Given the description of an element on the screen output the (x, y) to click on. 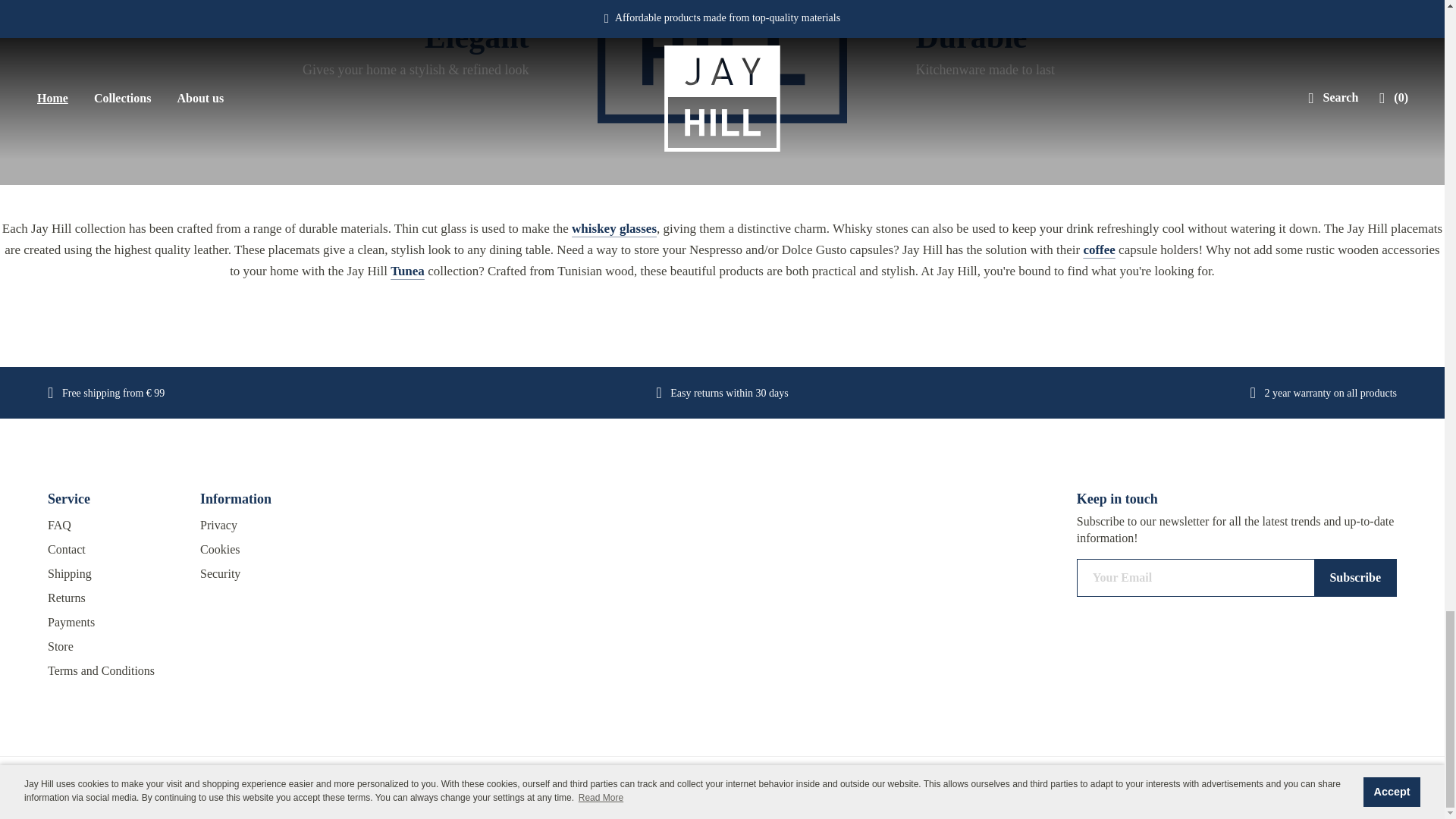
whiskey glasses (614, 228)
Store (112, 646)
Security (265, 573)
Returns (112, 598)
Terms and Conditions (112, 671)
coffee (1099, 249)
Shipping (112, 573)
Subscribe (1355, 577)
Contact (112, 549)
FAQ (112, 525)
Payments (112, 622)
Privacy (265, 525)
Tunea (407, 270)
Cookies (265, 549)
